Given the description of an element on the screen output the (x, y) to click on. 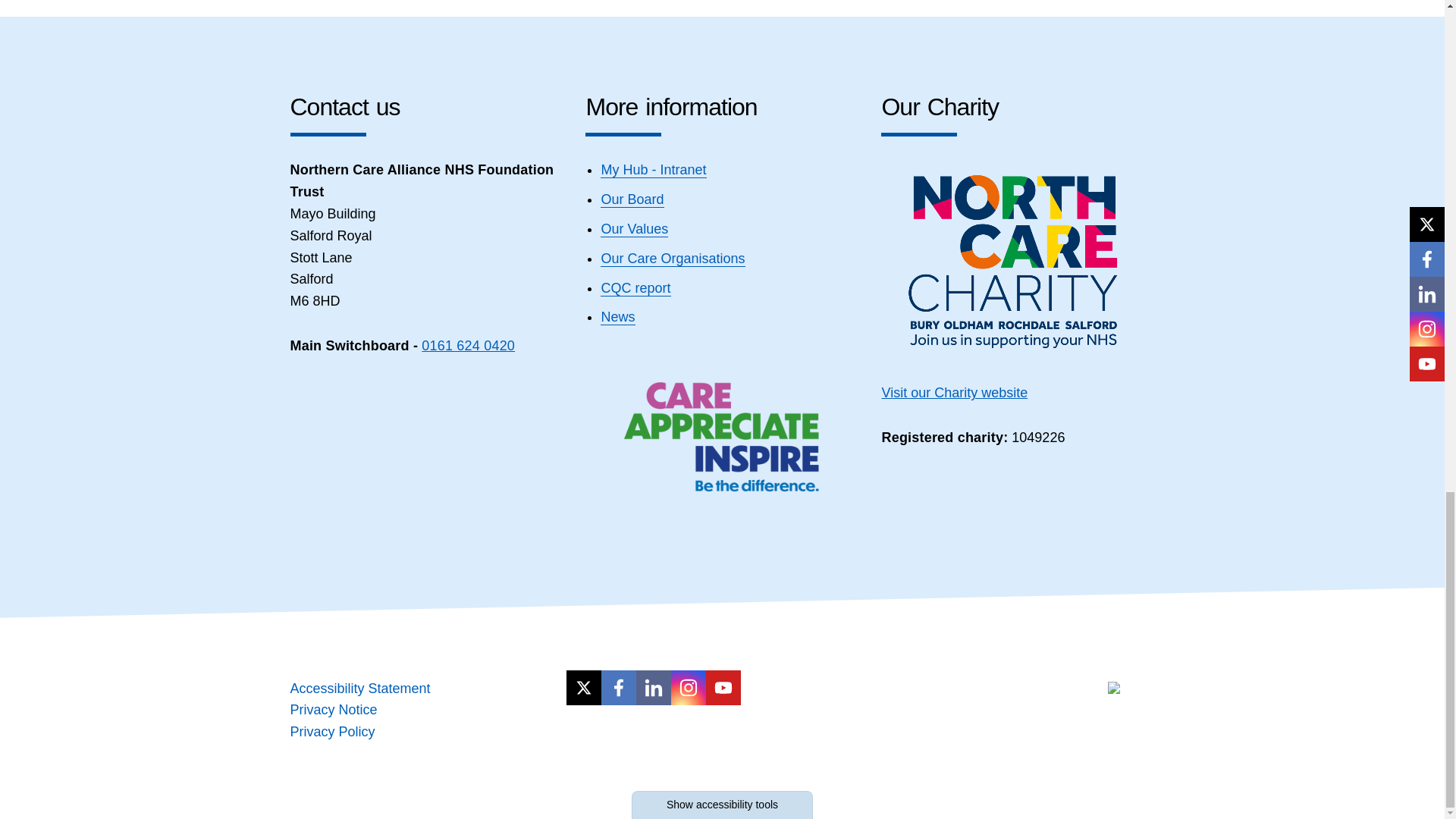
Instagram (688, 687)
Youtube (723, 687)
X (583, 687)
LinkedIn (653, 687)
Facebook (618, 687)
